Given the description of an element on the screen output the (x, y) to click on. 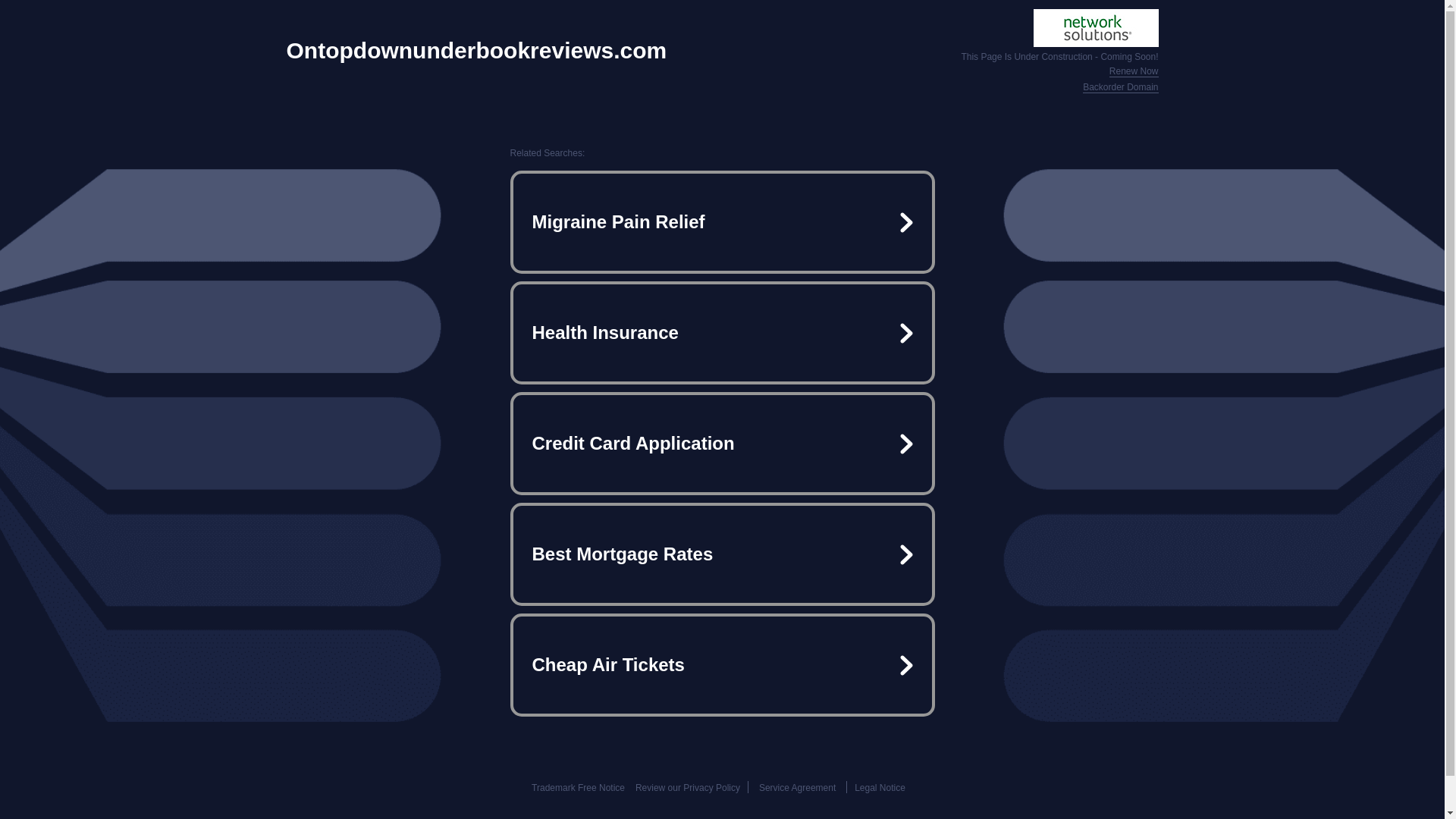
Renew Now (1133, 71)
Trademark Free Notice (577, 787)
Review our Privacy Policy (686, 787)
Credit Card Application (721, 443)
Best Mortgage Rates (721, 554)
Cheap Air Tickets (721, 664)
Migraine Pain Relief (721, 222)
Backorder Domain (1120, 87)
Legal Notice (879, 787)
Best Mortgage Rates (721, 554)
